Given the description of an element on the screen output the (x, y) to click on. 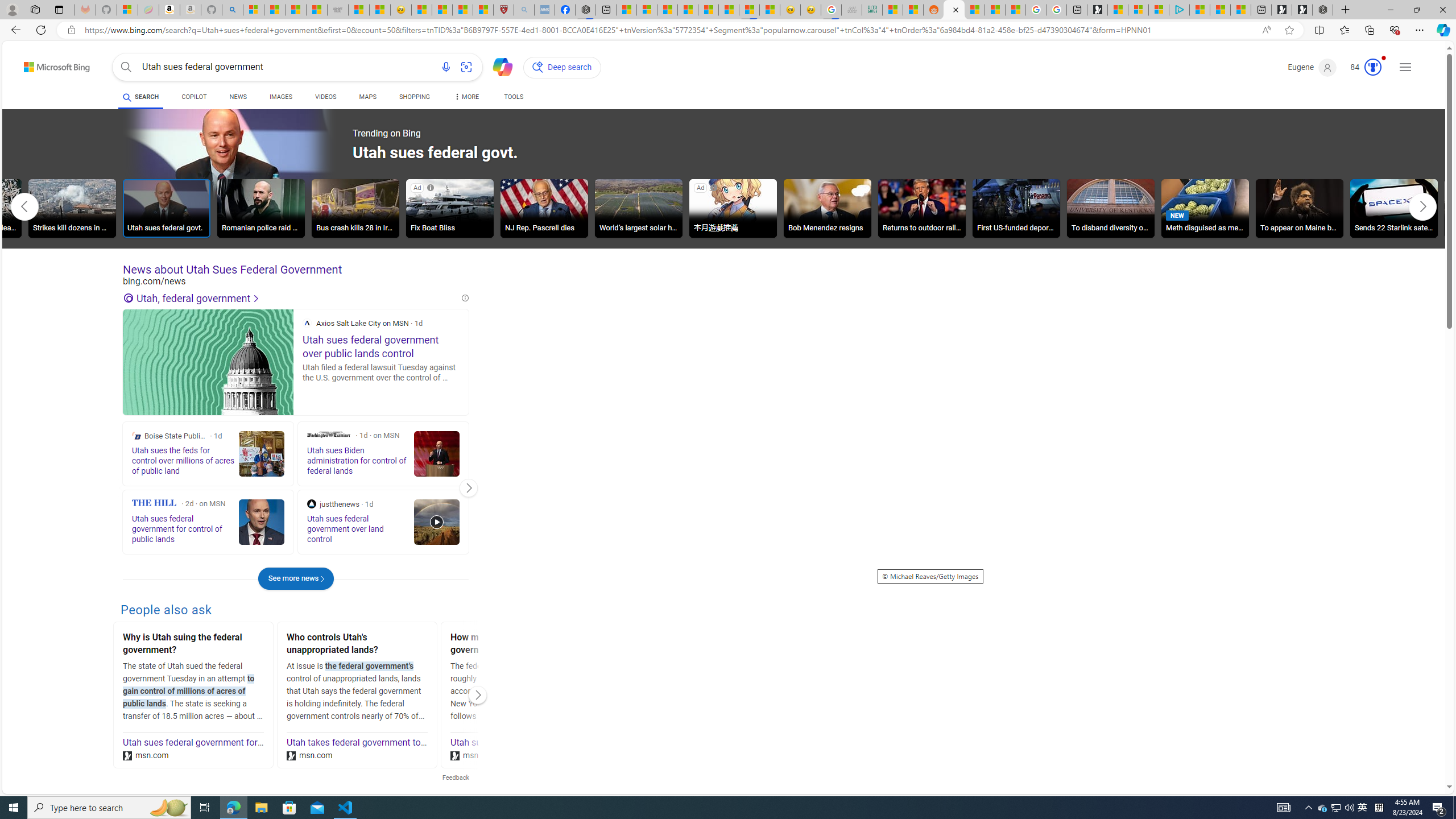
AutomationID: rh_meter (1372, 66)
Back to Bing search (50, 64)
Fix Boat Bliss (449, 207)
Utah takes federal government to court over control of land (405, 742)
Strikes kill dozens in Gaza (72, 207)
Utah sues Biden administration for control of federal lands (567, 742)
NEWS (237, 96)
